Given the description of an element on the screen output the (x, y) to click on. 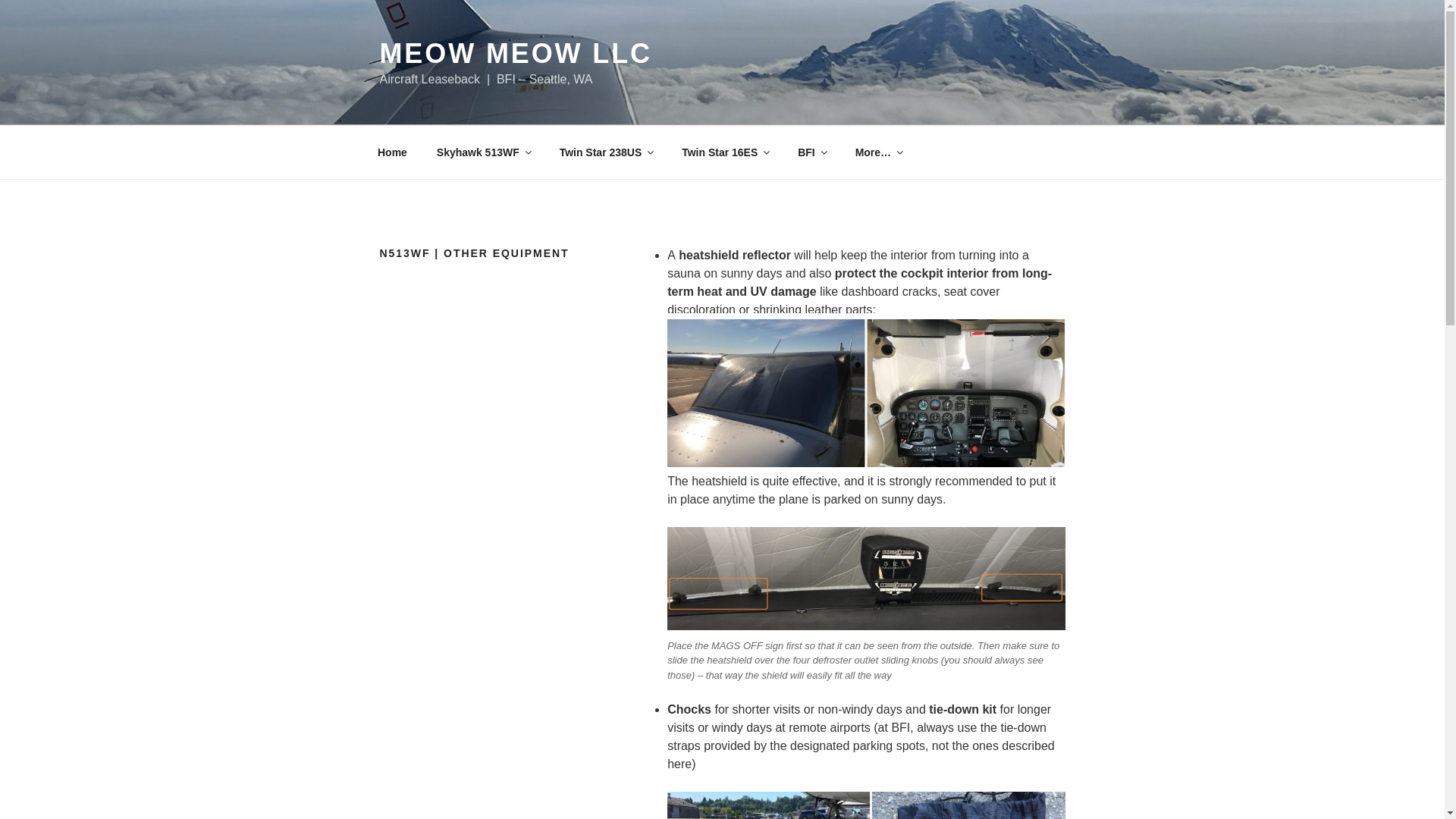
Home (392, 151)
Skyhawk 513WF (483, 151)
Twin Star 238US (605, 151)
MEOW MEOW LLC (514, 52)
